Given the description of an element on the screen output the (x, y) to click on. 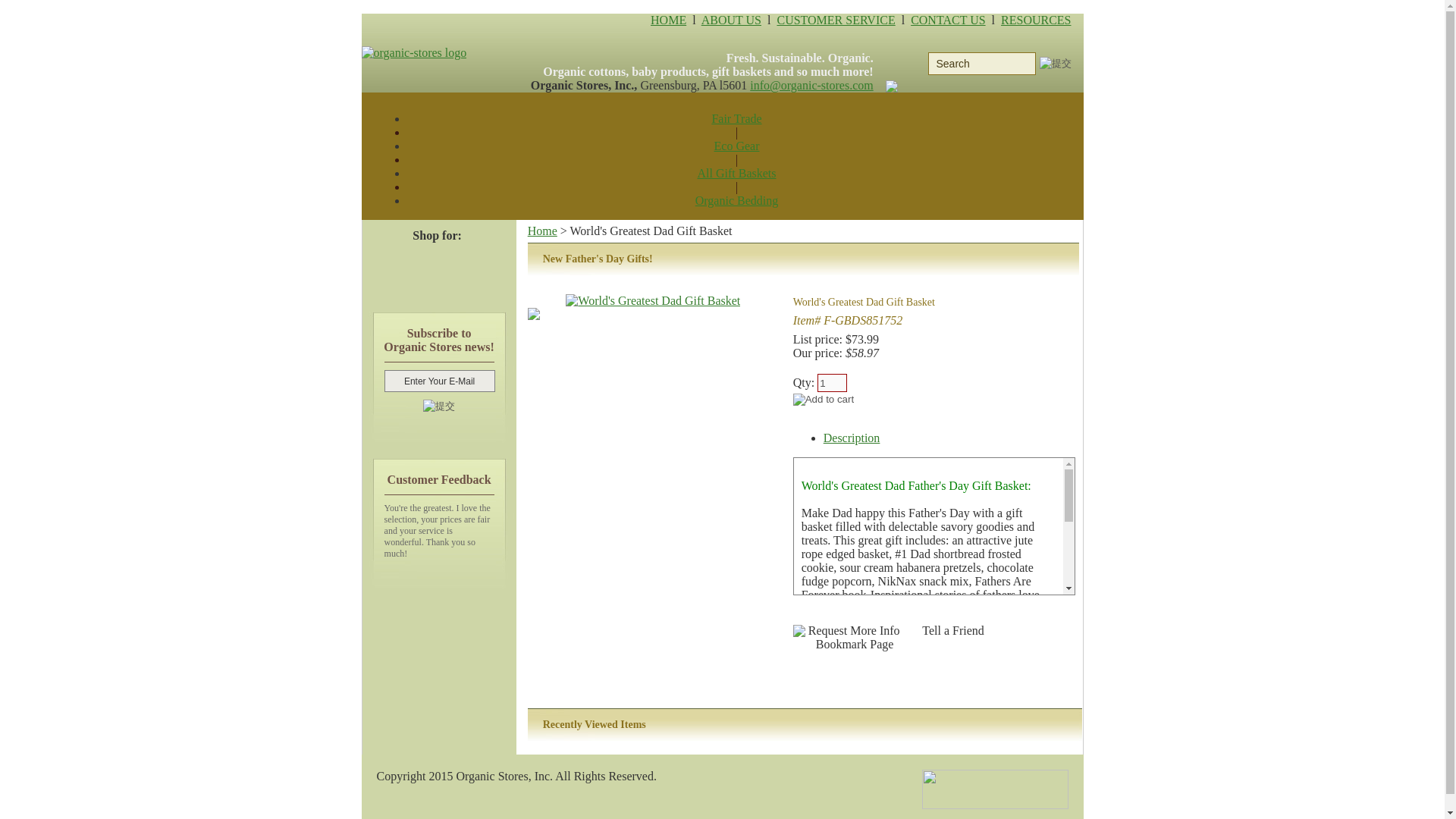
ABOUT US (731, 19)
Enter Your E-Mail (439, 381)
1 (831, 382)
Organic Bedding (736, 200)
All Gift Baskets (736, 173)
CONTACT US (948, 19)
CUSTOMER SERVICE (835, 19)
Add to cart (823, 399)
Fair Trade (736, 118)
Eco Gear (737, 145)
